Given the description of an element on the screen output the (x, y) to click on. 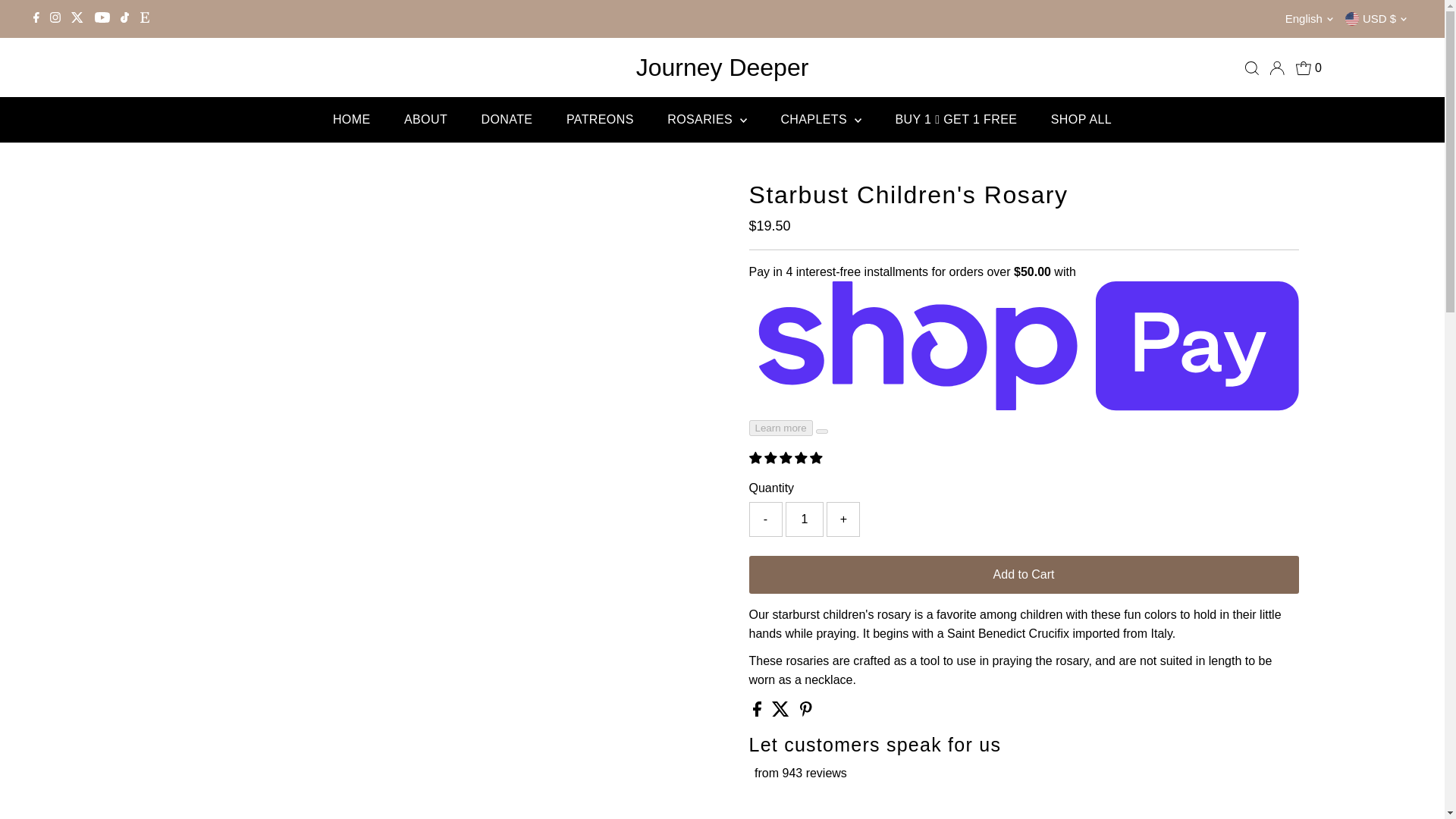
1 (805, 519)
Add to Cart (1023, 574)
Skip to content (55, 18)
English (1311, 18)
